Given the description of an element on the screen output the (x, y) to click on. 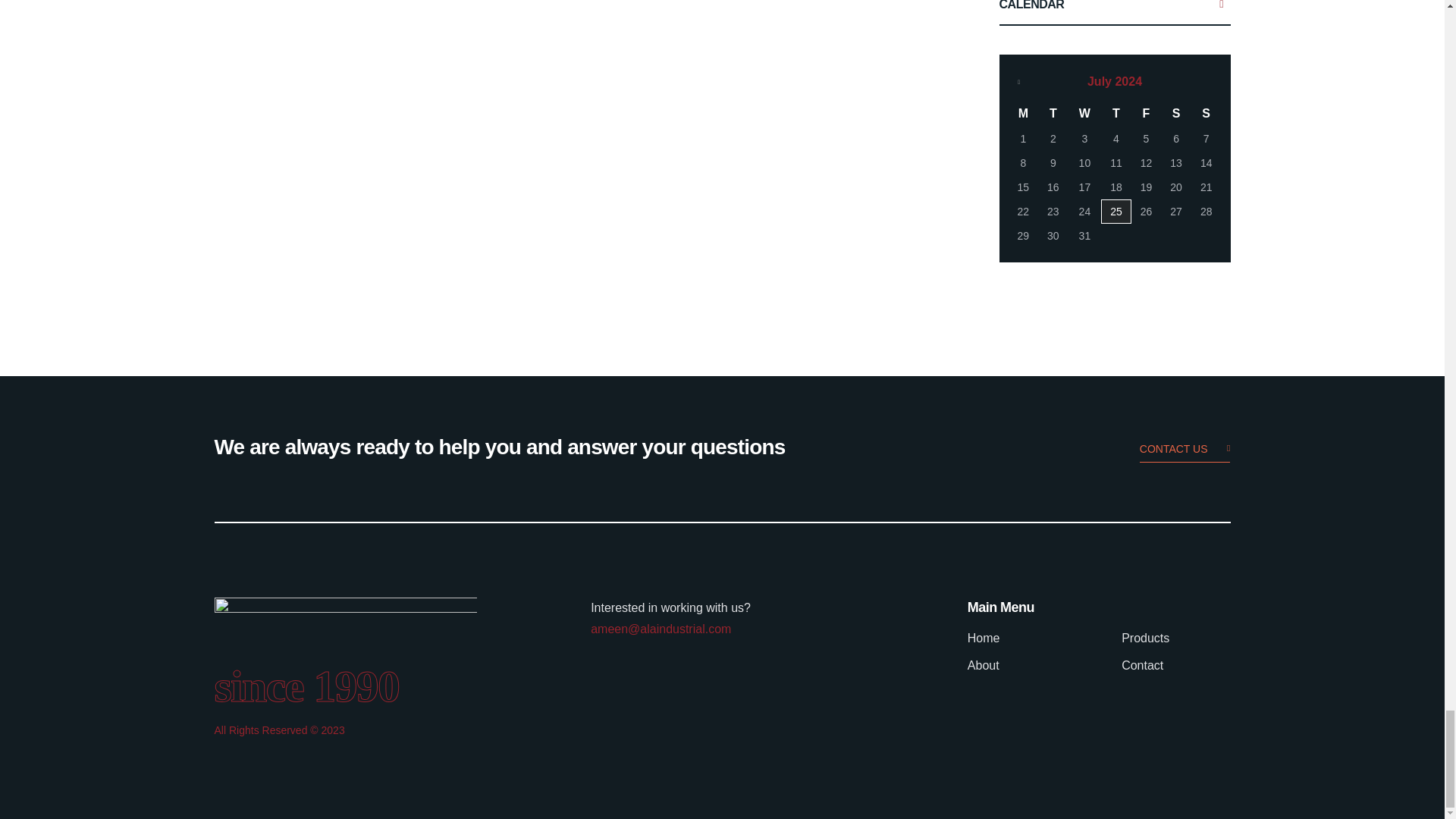
Thursday (1115, 113)
Wednesday (1084, 113)
Monday (1024, 113)
Friday (1146, 113)
Sunday (1206, 113)
Tuesday (1053, 113)
Saturday (1175, 113)
